Given the description of an element on the screen output the (x, y) to click on. 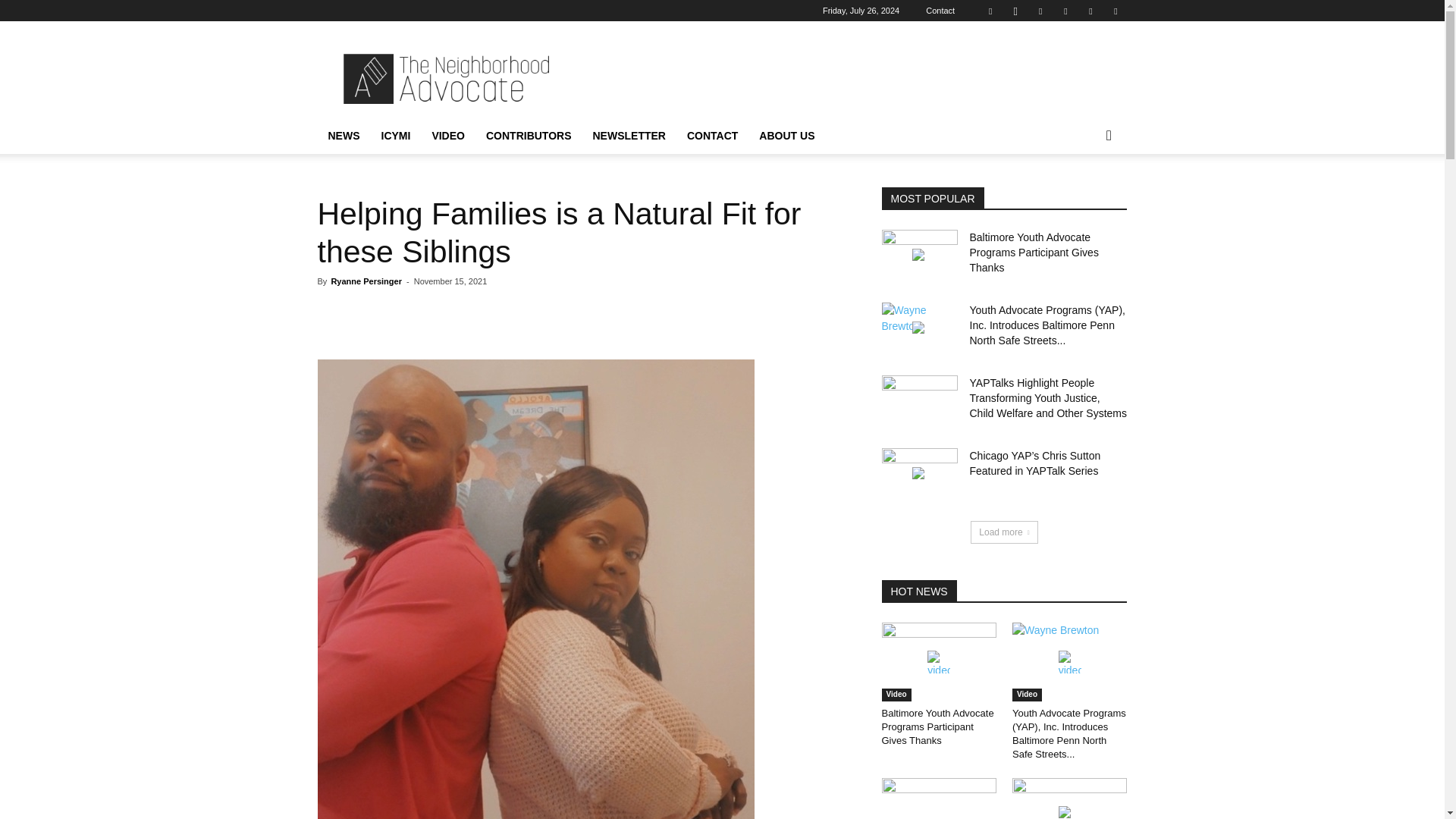
VIDEO (448, 135)
CONTACT (712, 135)
Twitter (1065, 10)
Youtube (1114, 10)
ICYMI (394, 135)
Instagram (1015, 10)
Facebook (989, 10)
Contact (940, 10)
NEWSLETTER (629, 135)
Linkedin (1040, 10)
NEWS (343, 135)
Vimeo (1090, 10)
Search (1085, 196)
CONTRIBUTORS (529, 135)
ABOUT US (786, 135)
